Given the description of an element on the screen output the (x, y) to click on. 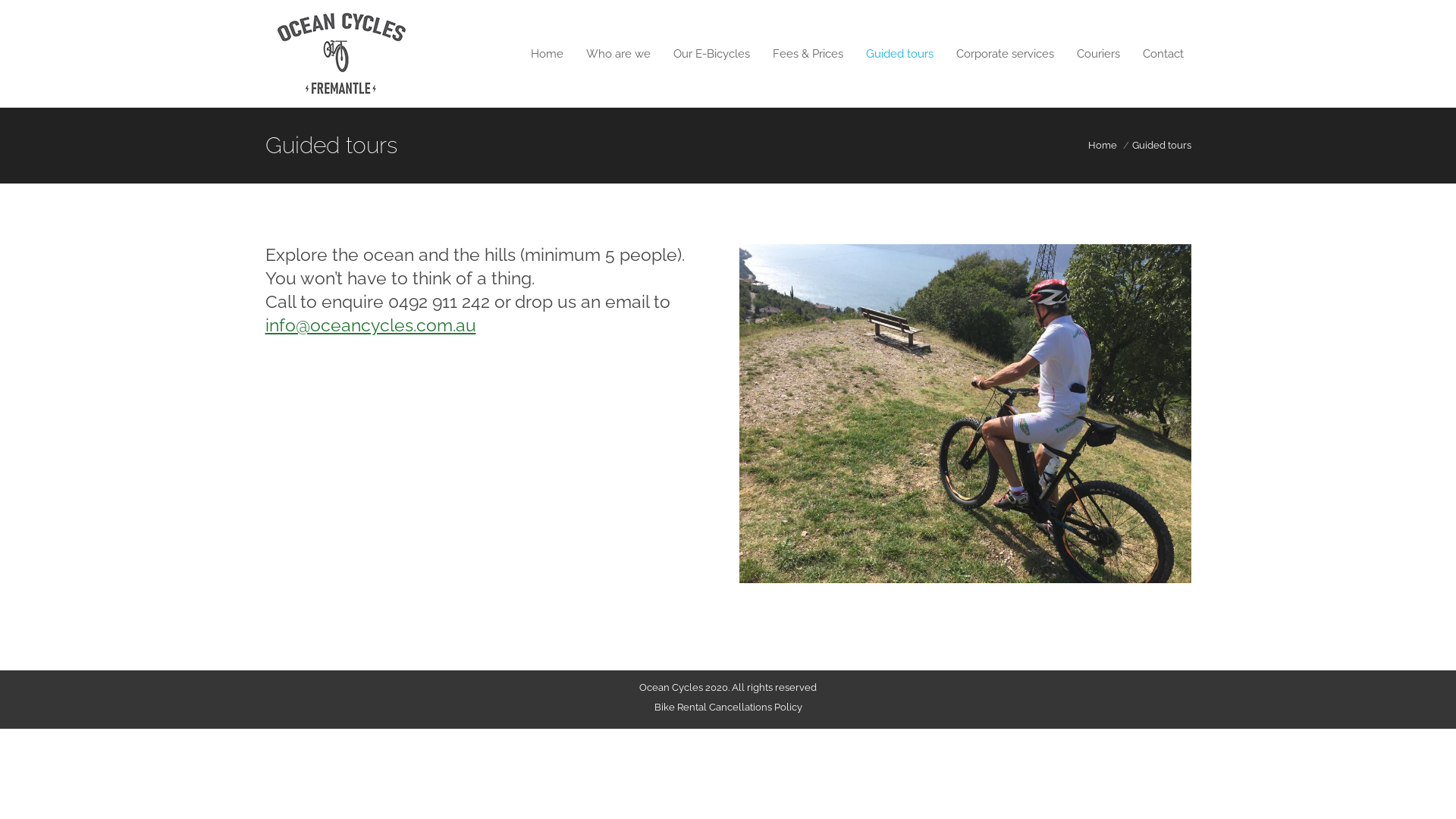
Our E-Bicycles Element type: text (711, 54)
Who are we Element type: text (617, 54)
Fees & Prices Element type: text (807, 54)
Bike Rental Cancellations Policy Element type: text (727, 706)
Home Element type: text (1101, 144)
Couriers Element type: text (1098, 54)
info@oceancycles.com.au Element type: text (370, 325)
Contact Element type: text (1162, 54)
Home Element type: text (547, 54)
Corporate services Element type: text (1003, 54)
Guided tours Element type: text (899, 54)
